Given the description of an element on the screen output the (x, y) to click on. 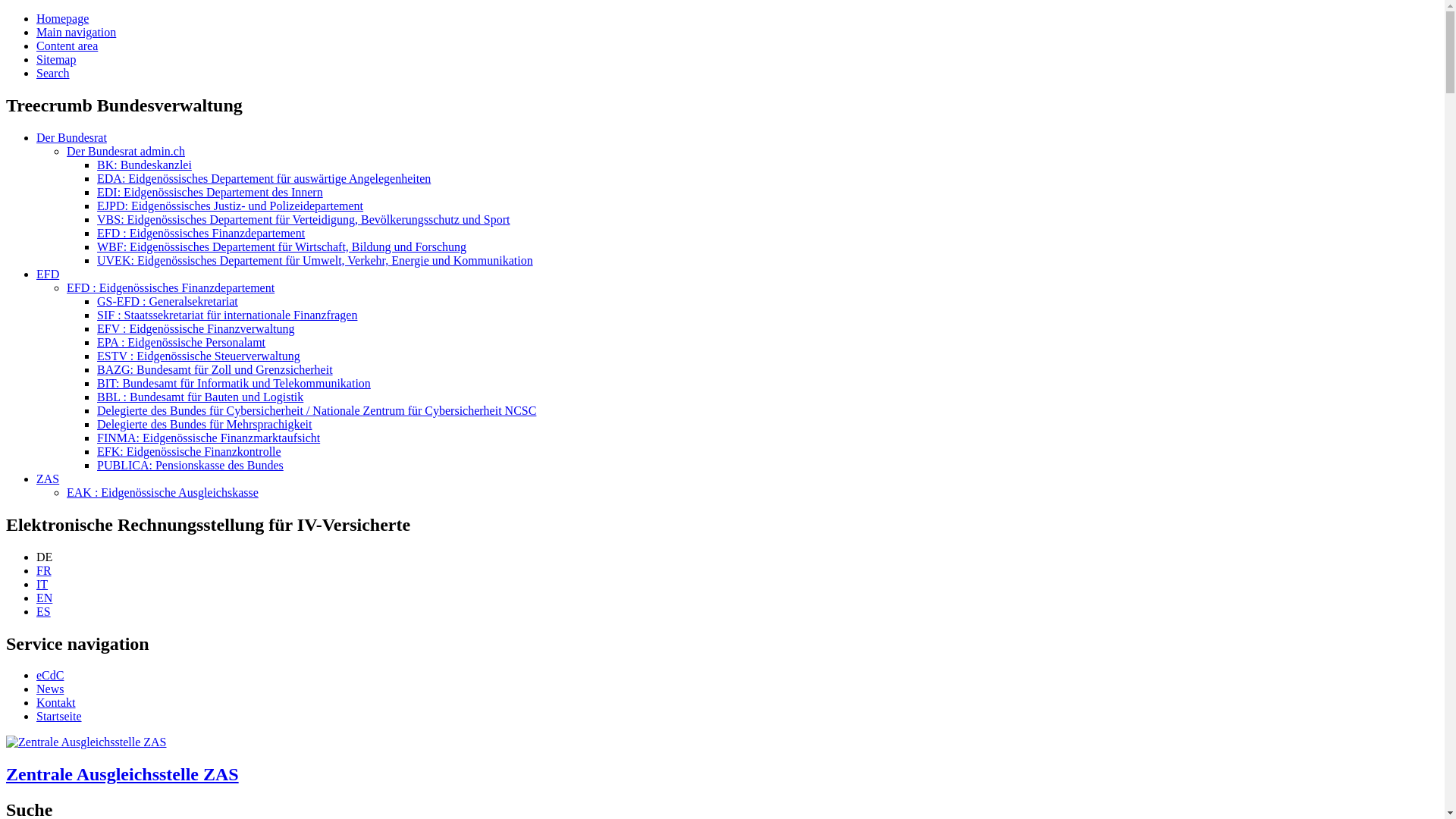
ZAS Element type: text (47, 478)
PUBLICA: Pensionskasse des Bundes Element type: text (190, 464)
Sitemap Element type: text (55, 59)
Kontakt Element type: text (55, 702)
BK: Bundeskanzlei Element type: text (144, 164)
Content area Element type: text (66, 45)
IT Element type: text (41, 583)
Search Element type: text (52, 72)
DE Element type: text (44, 556)
Homepage Element type: text (62, 18)
Der Bundesrat Element type: text (71, 137)
Main navigation Element type: text (76, 31)
GS-EFD : Generalsekretariat Element type: text (167, 300)
Der Bundesrat admin.ch Element type: text (125, 150)
FR Element type: text (43, 570)
EN Element type: text (44, 597)
Startseite Element type: text (58, 715)
eCdC Element type: text (49, 674)
News Element type: text (49, 688)
EFD Element type: text (47, 273)
ES Element type: text (43, 611)
Zentrale Ausgleichsstelle ZAS Element type: text (722, 759)
